Given the description of an element on the screen output the (x, y) to click on. 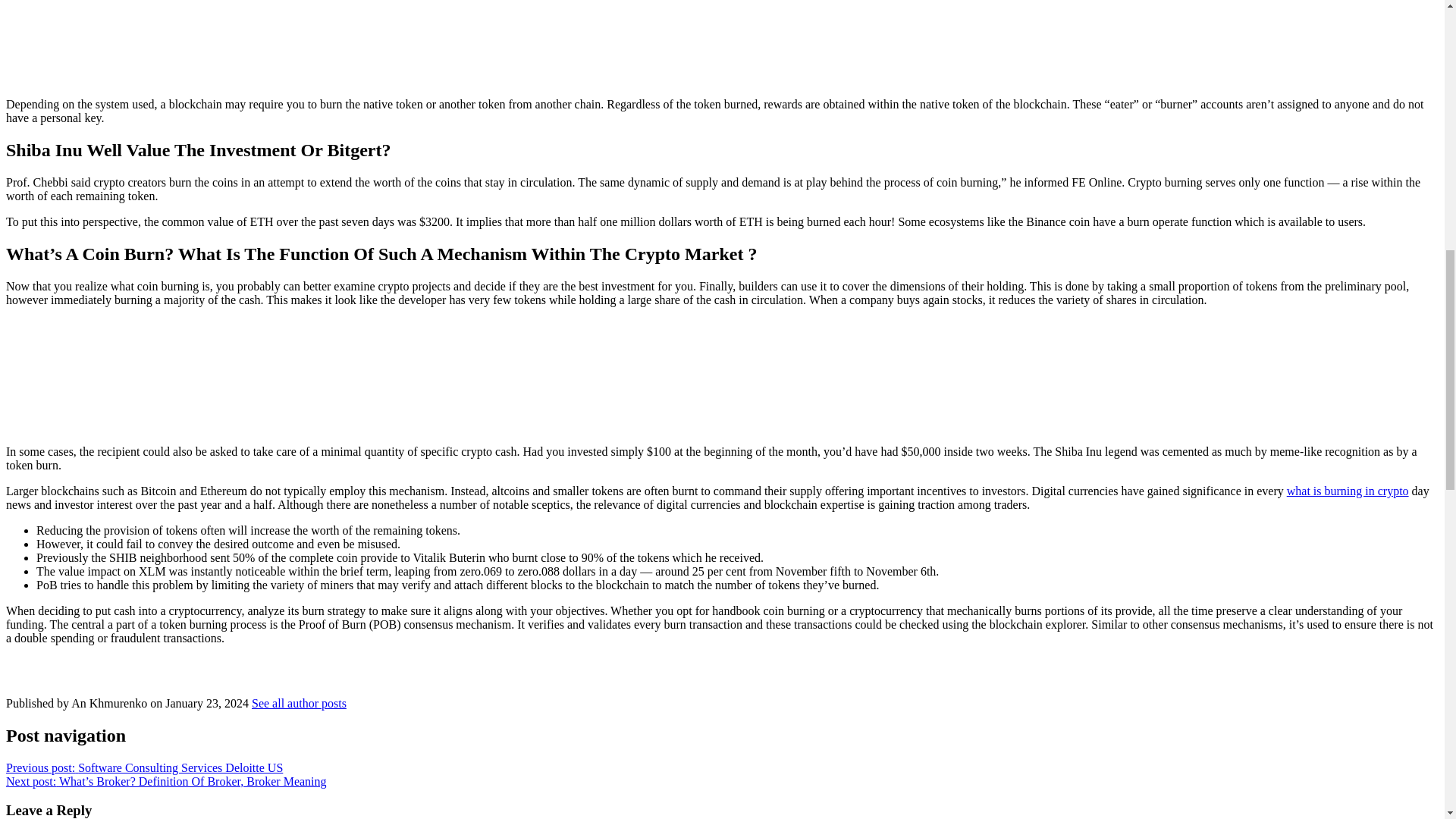
See all author posts (298, 703)
what is burning in crypto (1348, 490)
Previous post: Software Consulting Services Deloitte US (143, 767)
